Given the description of an element on the screen output the (x, y) to click on. 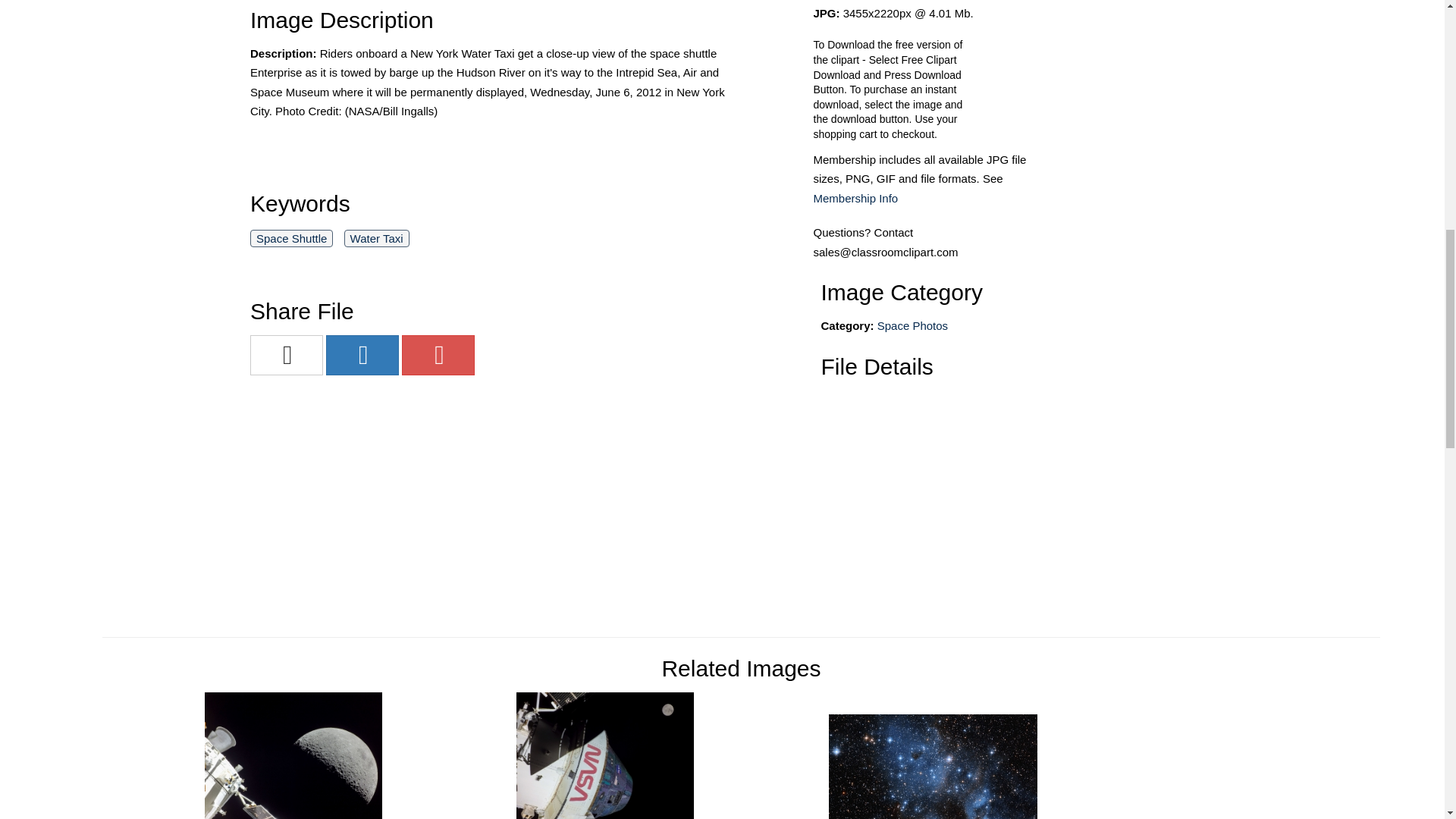
Water Taxi (376, 238)
Space Shuttle (291, 238)
